Given the description of an element on the screen output the (x, y) to click on. 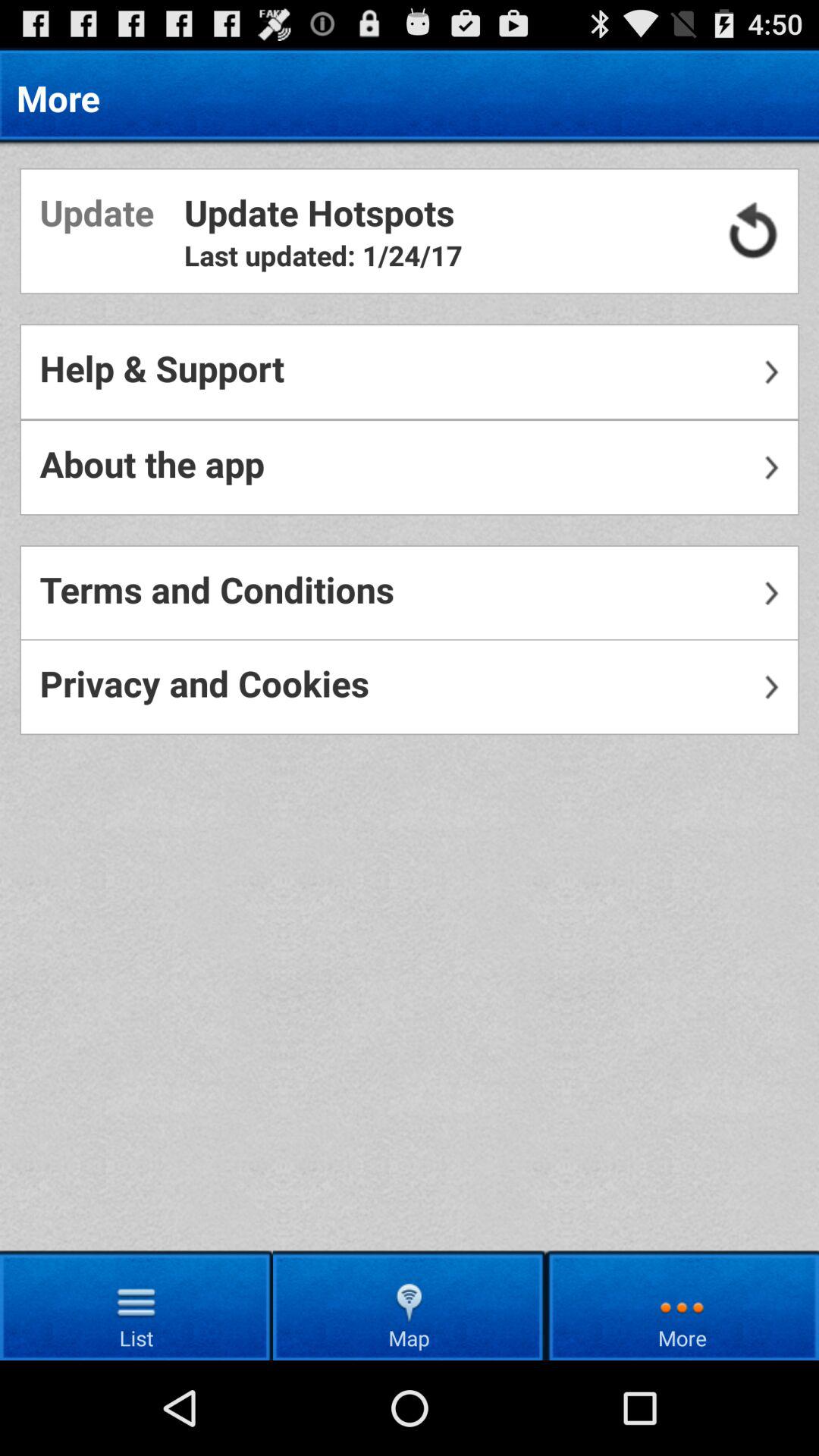
turn on the icon above the about the app item (409, 371)
